Given the description of an element on the screen output the (x, y) to click on. 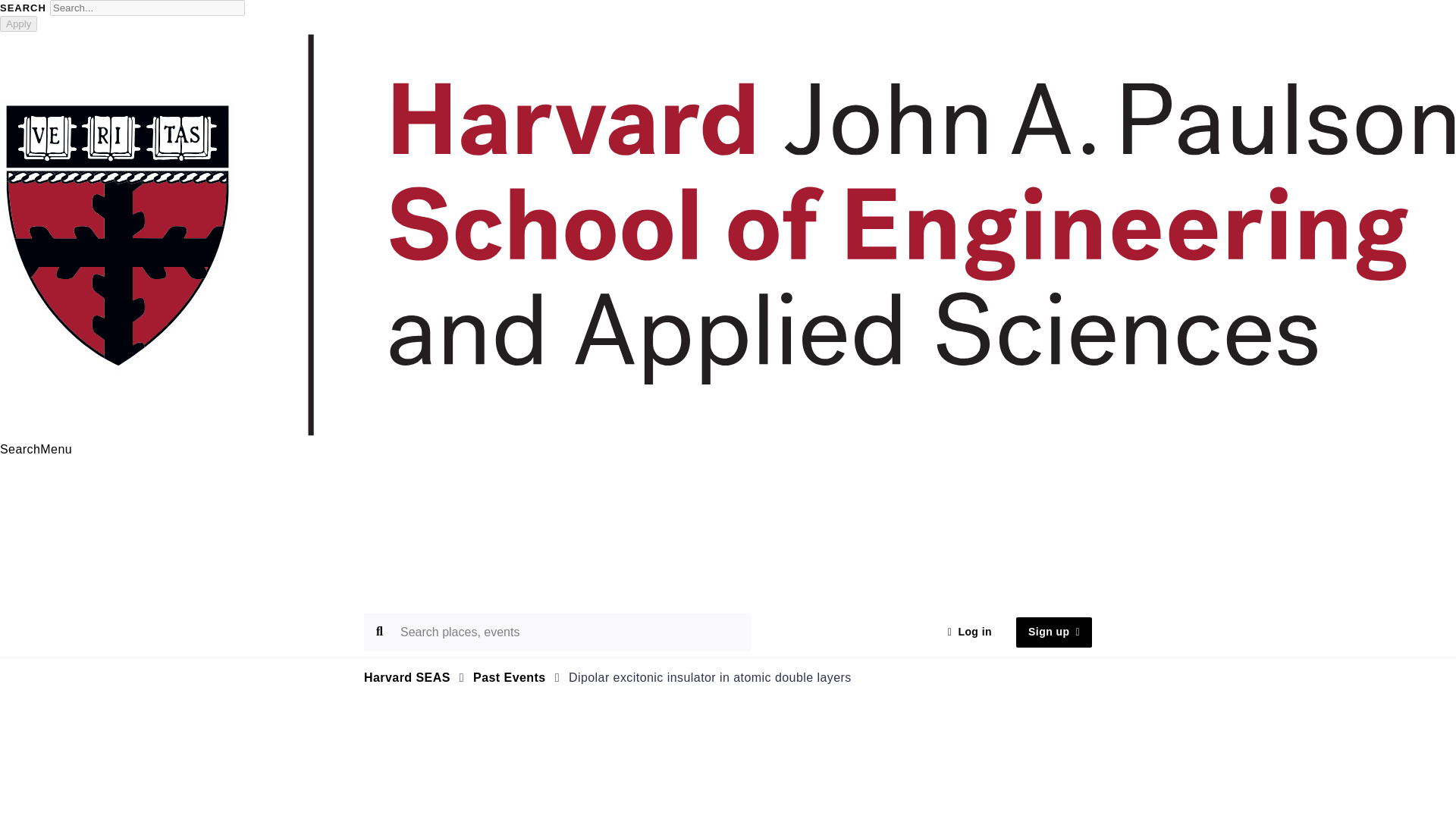
Search (20, 449)
Sign up (1054, 632)
Menu (55, 449)
Past Events (509, 676)
Apply (18, 23)
Harvard SEAS (406, 676)
Apply (18, 23)
Log in (970, 632)
